Given the description of an element on the screen output the (x, y) to click on. 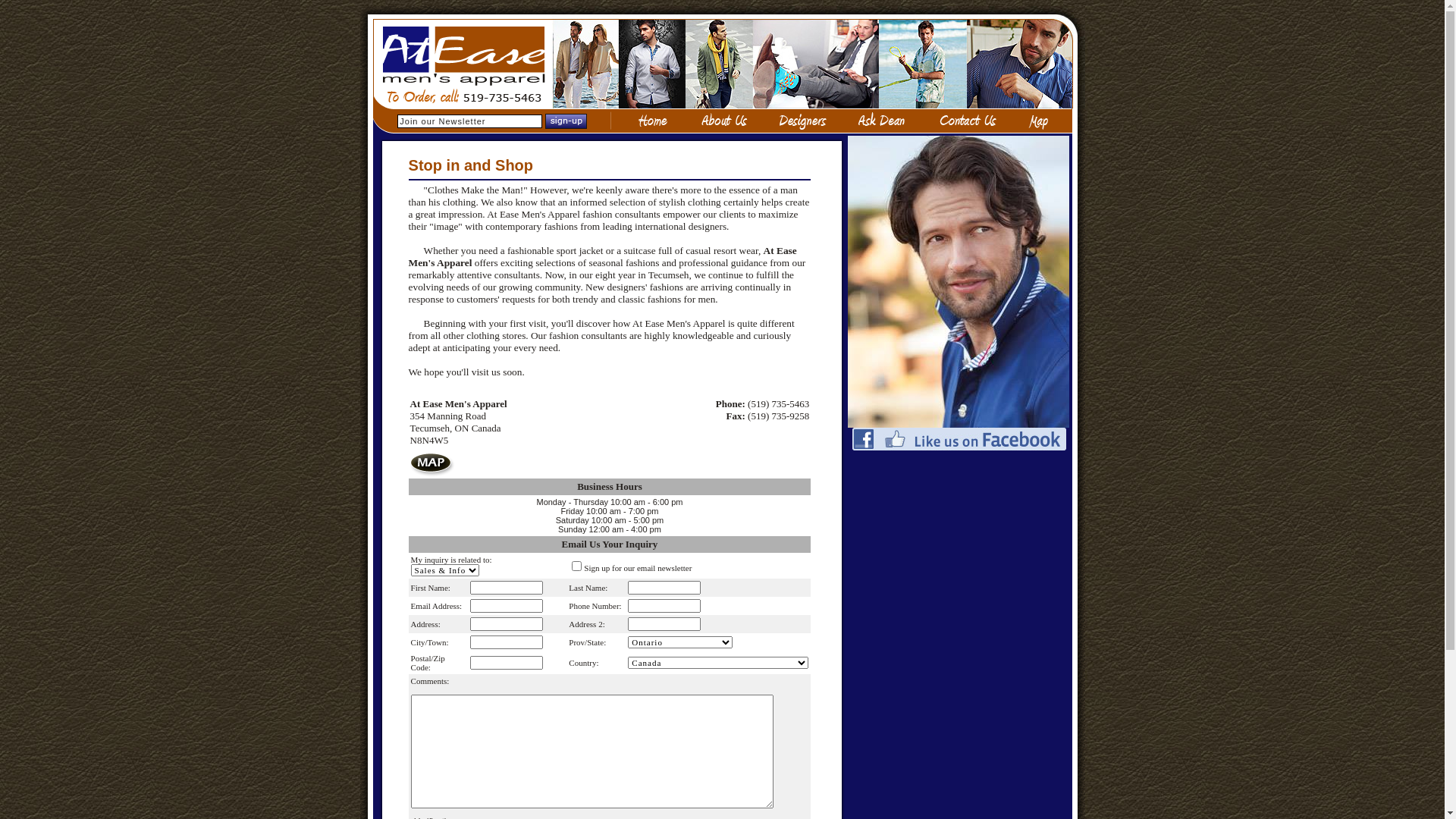
About Us Element type: hover (723, 121)
Home Element type: hover (646, 121)
Ask Dean Element type: hover (881, 121)
Contact Us Element type: hover (966, 121)
Designers Element type: hover (803, 121)
